Given the description of an element on the screen output the (x, y) to click on. 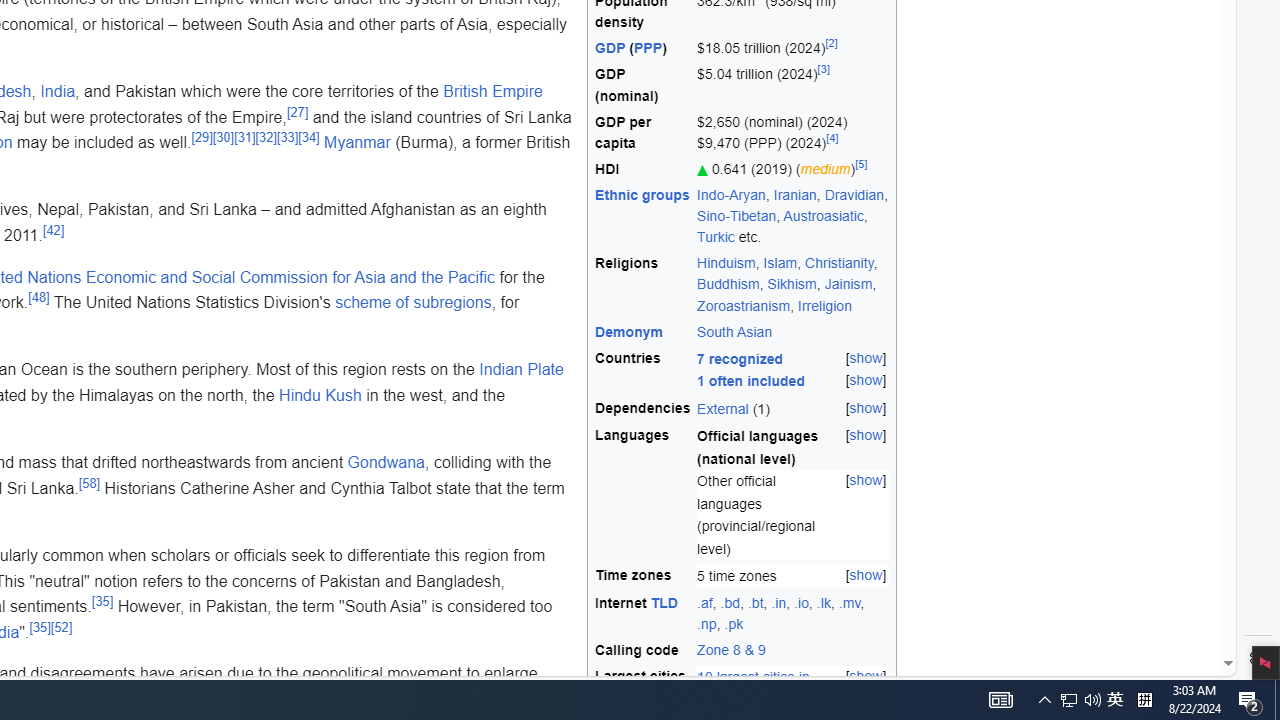
External (722, 408)
Sino-Tibetan (736, 216)
Languages (643, 493)
Hinduism (726, 263)
Demonym (643, 331)
Increase (703, 169)
[show] External (1) (793, 408)
GDP per capita (643, 132)
Largest cities (643, 688)
Indian Plate (521, 369)
[58] (89, 483)
[show] 7 recognized [show] 1 often included (793, 369)
[show] 10 largest cities in South Asia (793, 688)
Demonym (629, 331)
[show] (865, 677)
